Given the description of an element on the screen output the (x, y) to click on. 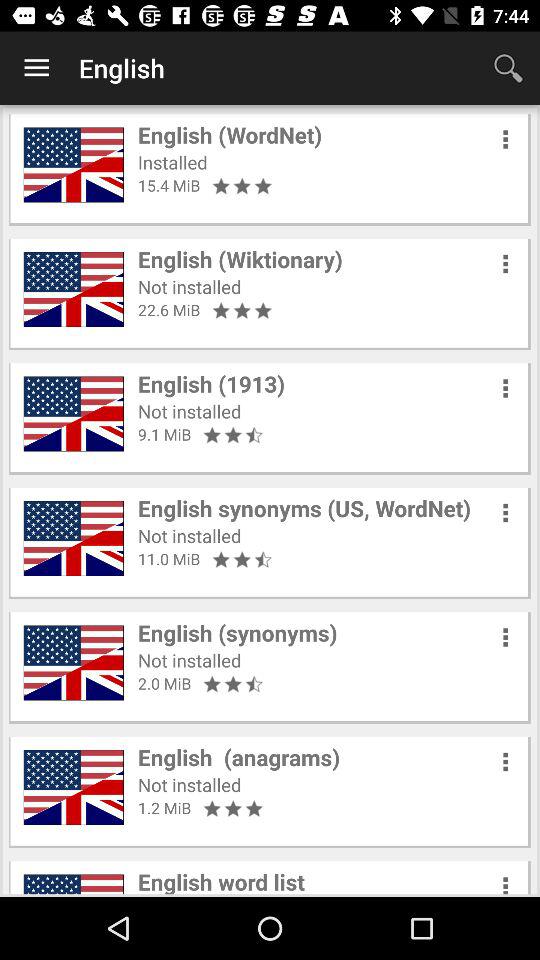
select 22.6 mib item (169, 309)
